Given the description of an element on the screen output the (x, y) to click on. 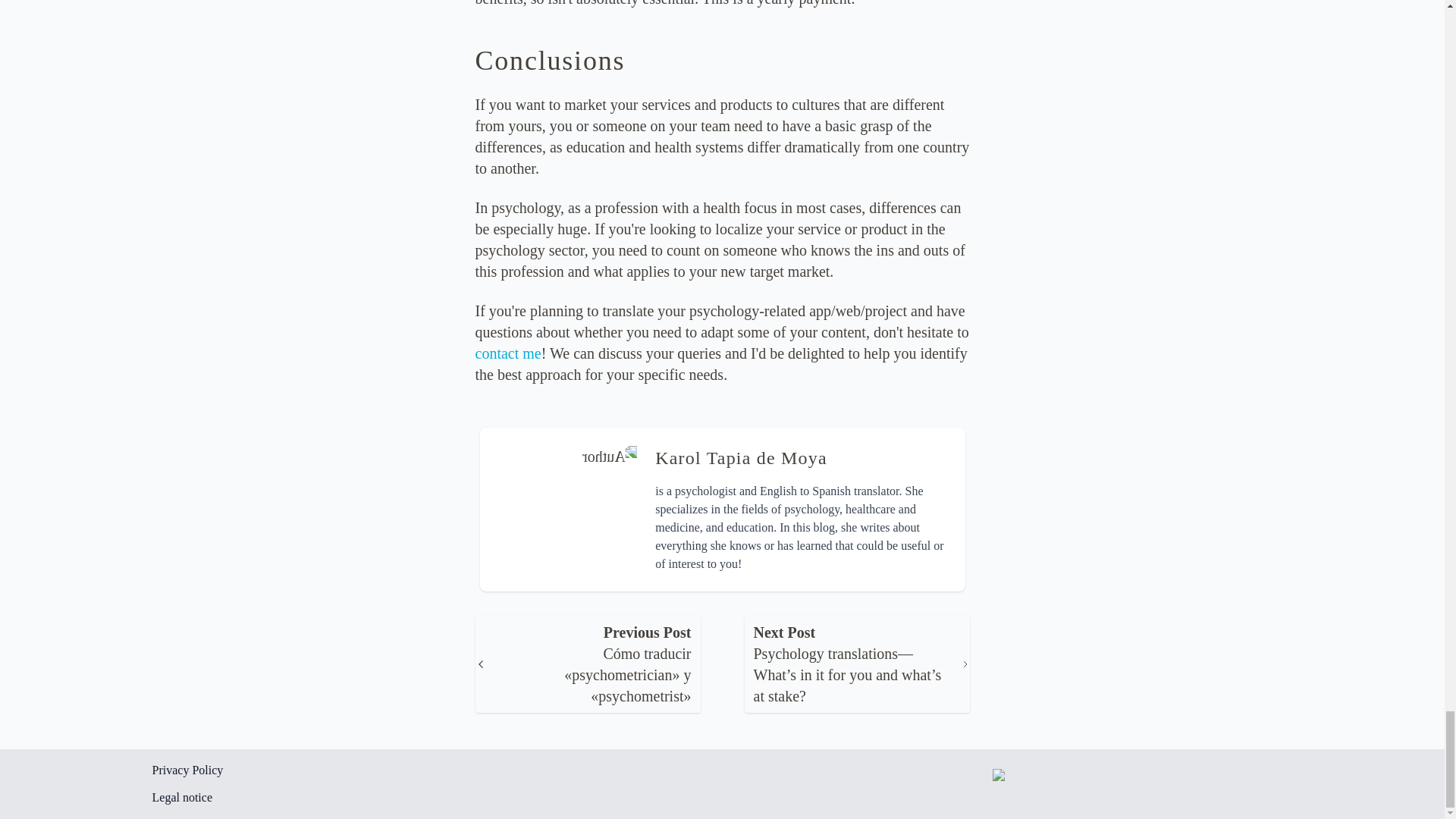
Legal notice (436, 797)
contact me (507, 352)
Privacy Policy (436, 770)
